Given the description of an element on the screen output the (x, y) to click on. 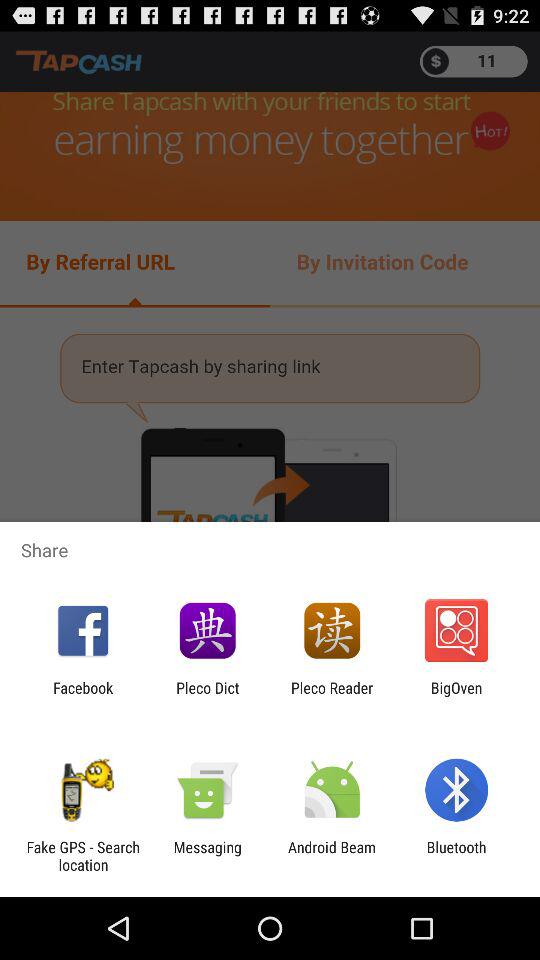
open the pleco reader icon (331, 696)
